Given the description of an element on the screen output the (x, y) to click on. 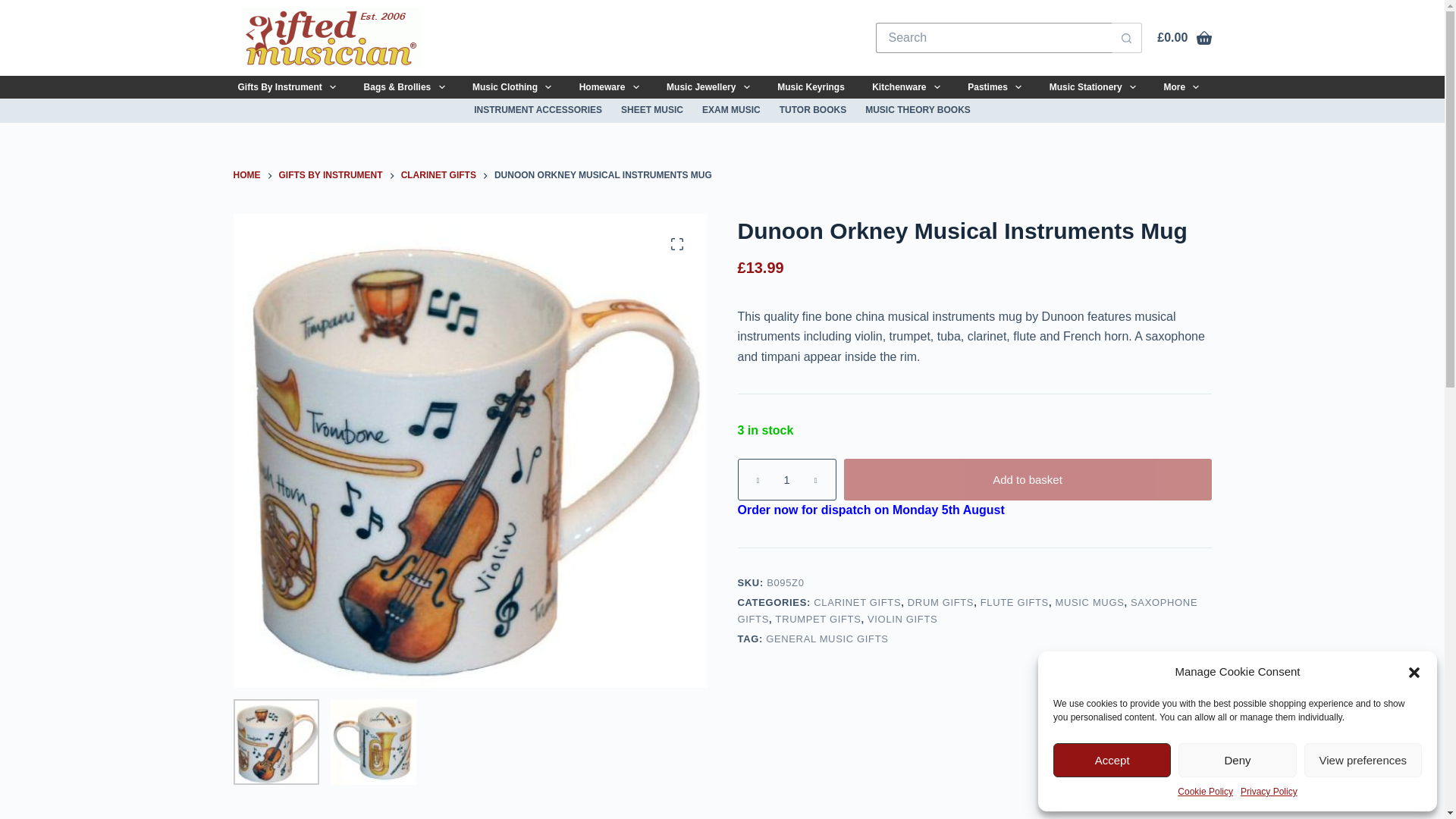
Accept (1111, 759)
Privacy Policy (1268, 792)
Dunoon Orkney Musical Instruments Mug (275, 741)
Cookie Policy (1205, 792)
Gifts By Instrument (286, 87)
1 (785, 479)
Search for... (994, 37)
Deny (1236, 759)
View preferences (1363, 759)
